Given the description of an element on the screen output the (x, y) to click on. 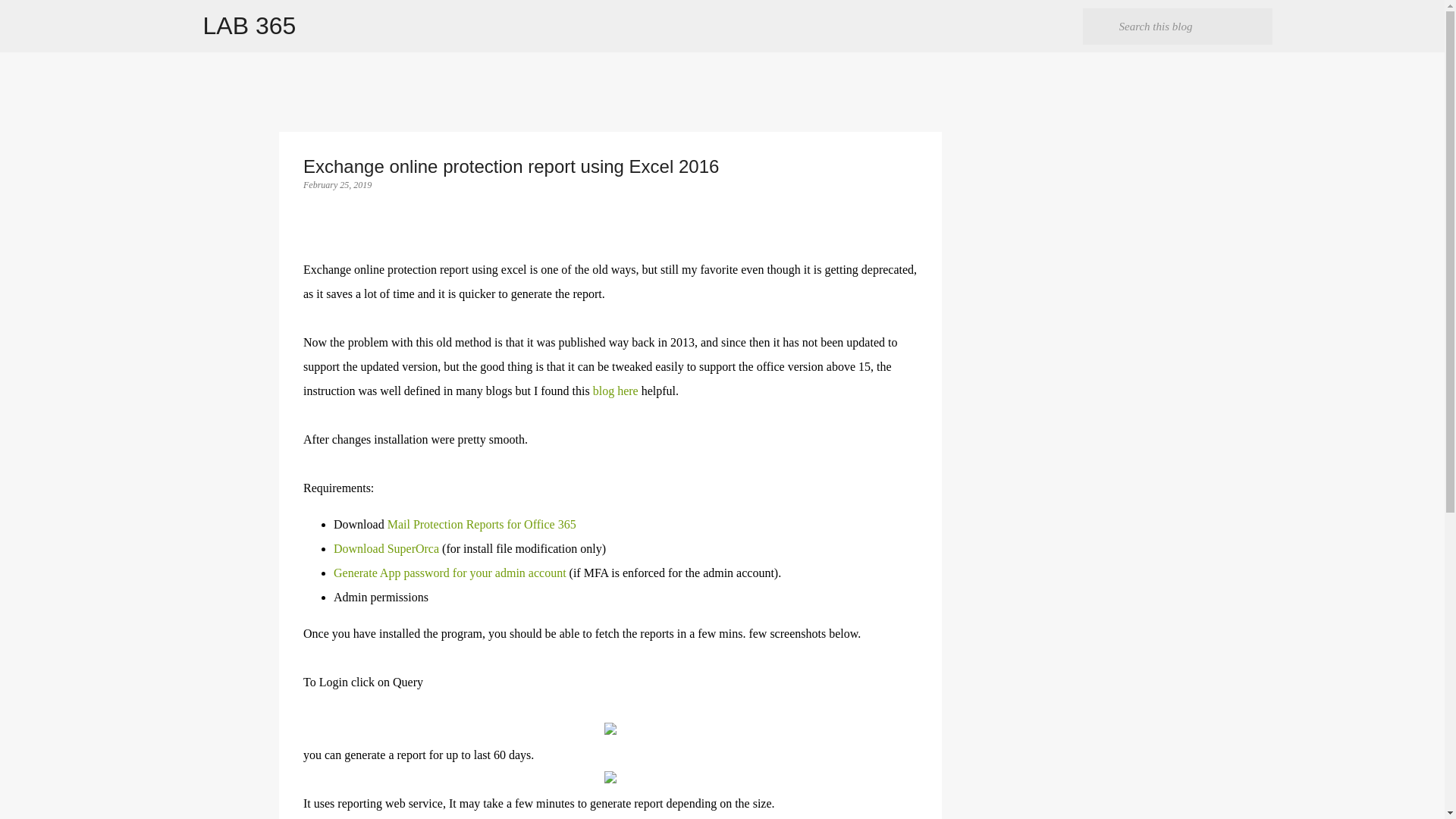
blog here (615, 390)
Mail Protection Reports for Office 365 (481, 523)
Generate App password for your admin account (449, 572)
LAB 365 (250, 25)
Download SuperOrca (386, 548)
February 25, 2019 (336, 184)
permanent link (336, 184)
